Given the description of an element on the screen output the (x, y) to click on. 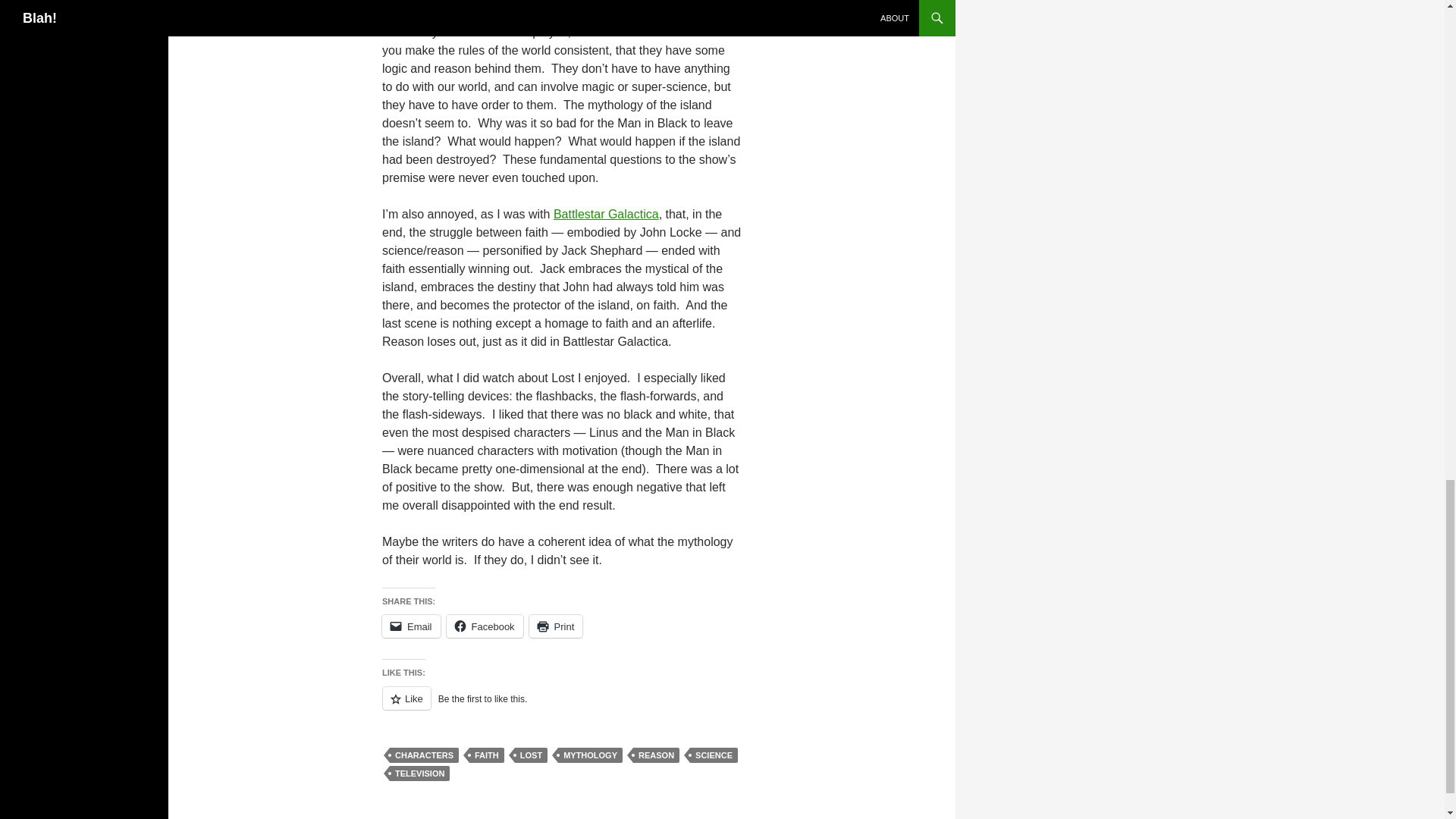
Facebook (484, 626)
SCIENCE (714, 754)
Click to email a link to a friend (411, 626)
FAITH (485, 754)
Click to share on Facebook (484, 626)
Battlestar Galactica (606, 214)
LOST (531, 754)
Email (411, 626)
Print (556, 626)
Click to print (556, 626)
CHARACTERS (424, 754)
TELEVISION (419, 773)
MYTHOLOGY (590, 754)
Like or Reblog (561, 707)
REASON (656, 754)
